Given the description of an element on the screen output the (x, y) to click on. 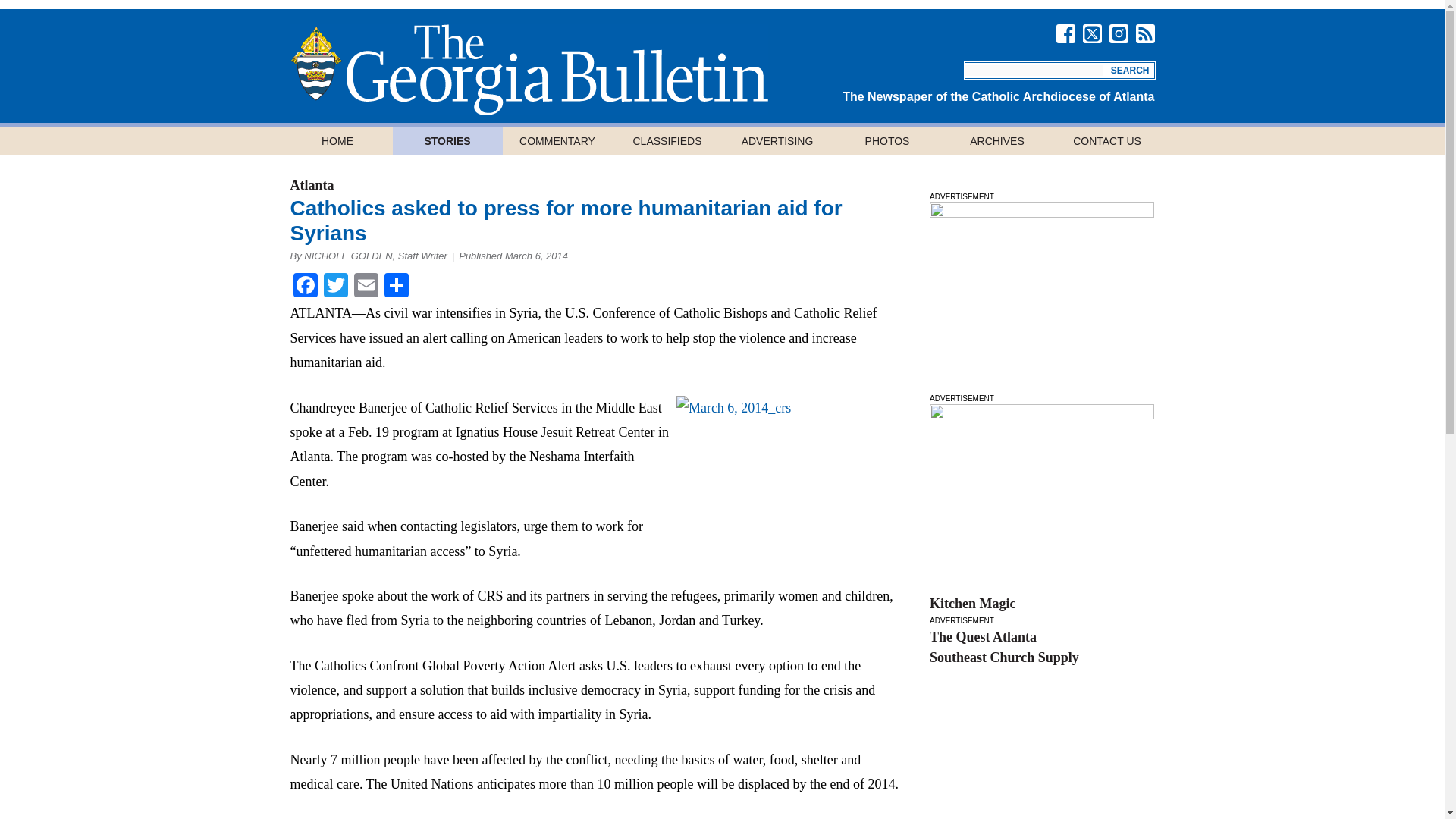
STORIES (447, 140)
Find us on Facebook (1064, 33)
COMMENTARY (556, 140)
Follow us on Instagram (1117, 33)
ADVERTISING (776, 140)
Grab our RSS Feed (1144, 33)
PHOTOS (887, 140)
CLASSIFIEDS (667, 140)
Twitter (335, 286)
HOME (336, 140)
